Given the description of an element on the screen output the (x, y) to click on. 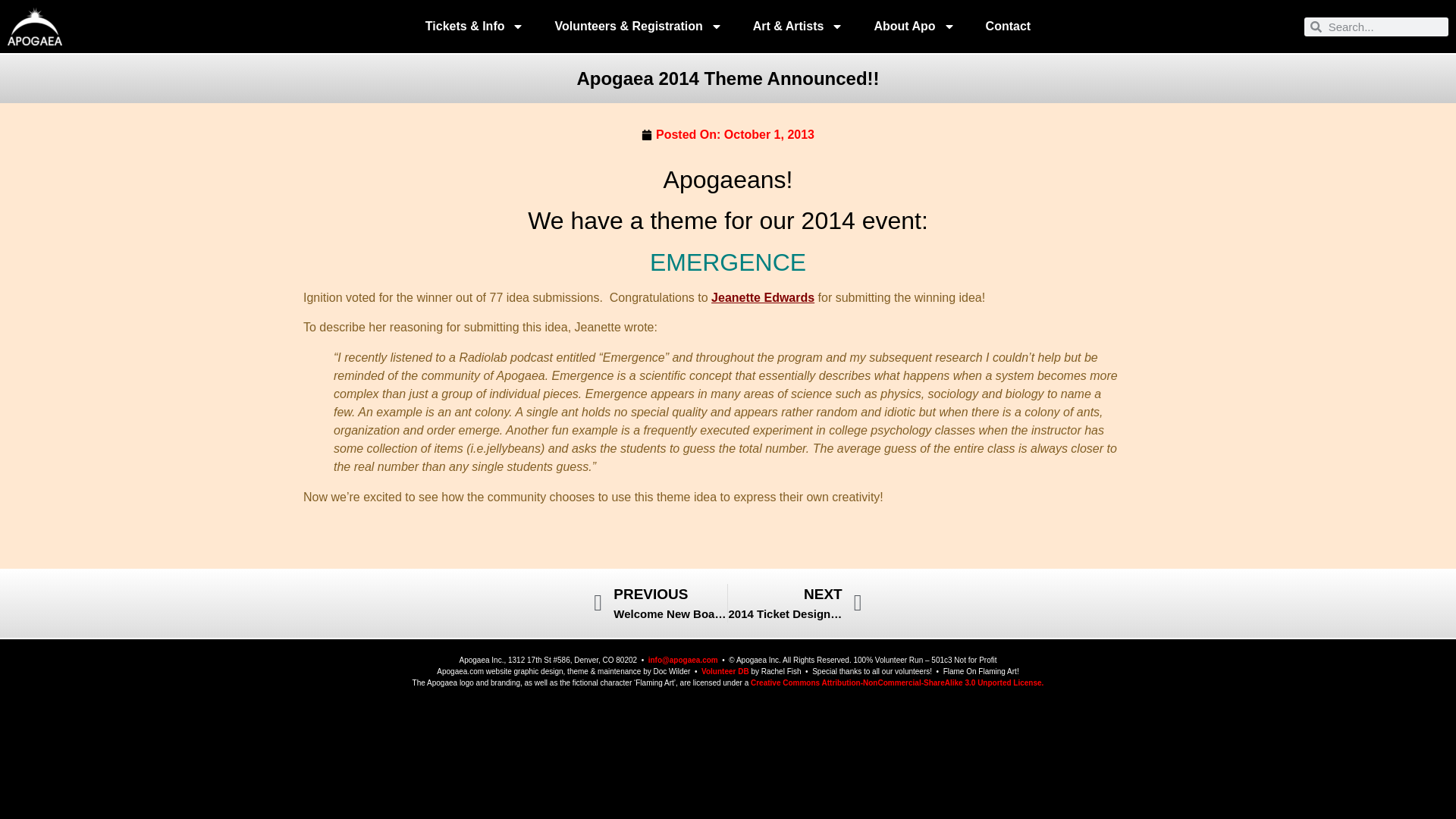
About Apo (914, 26)
